Given the description of an element on the screen output the (x, y) to click on. 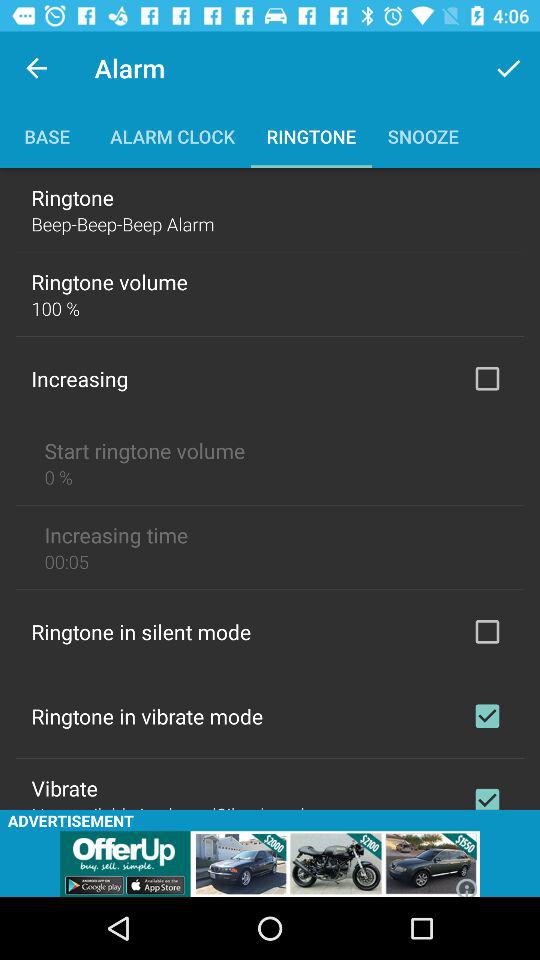
select setting (487, 716)
